Given the description of an element on the screen output the (x, y) to click on. 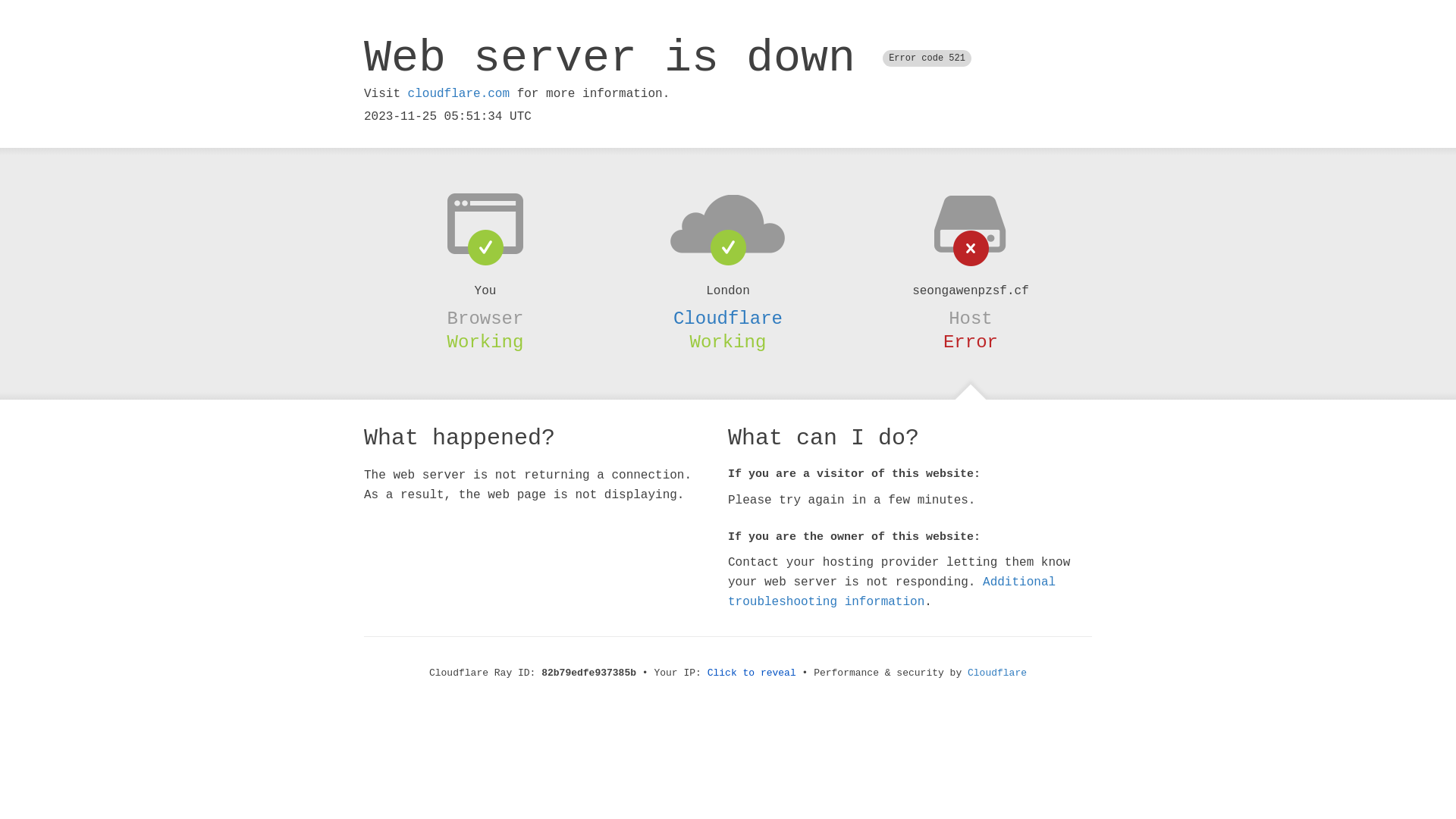
Click to reveal Element type: text (751, 672)
cloudflare.com Element type: text (458, 93)
Cloudflare Element type: text (727, 318)
Cloudflare Element type: text (996, 672)
Additional troubleshooting information Element type: text (891, 591)
